Given the description of an element on the screen output the (x, y) to click on. 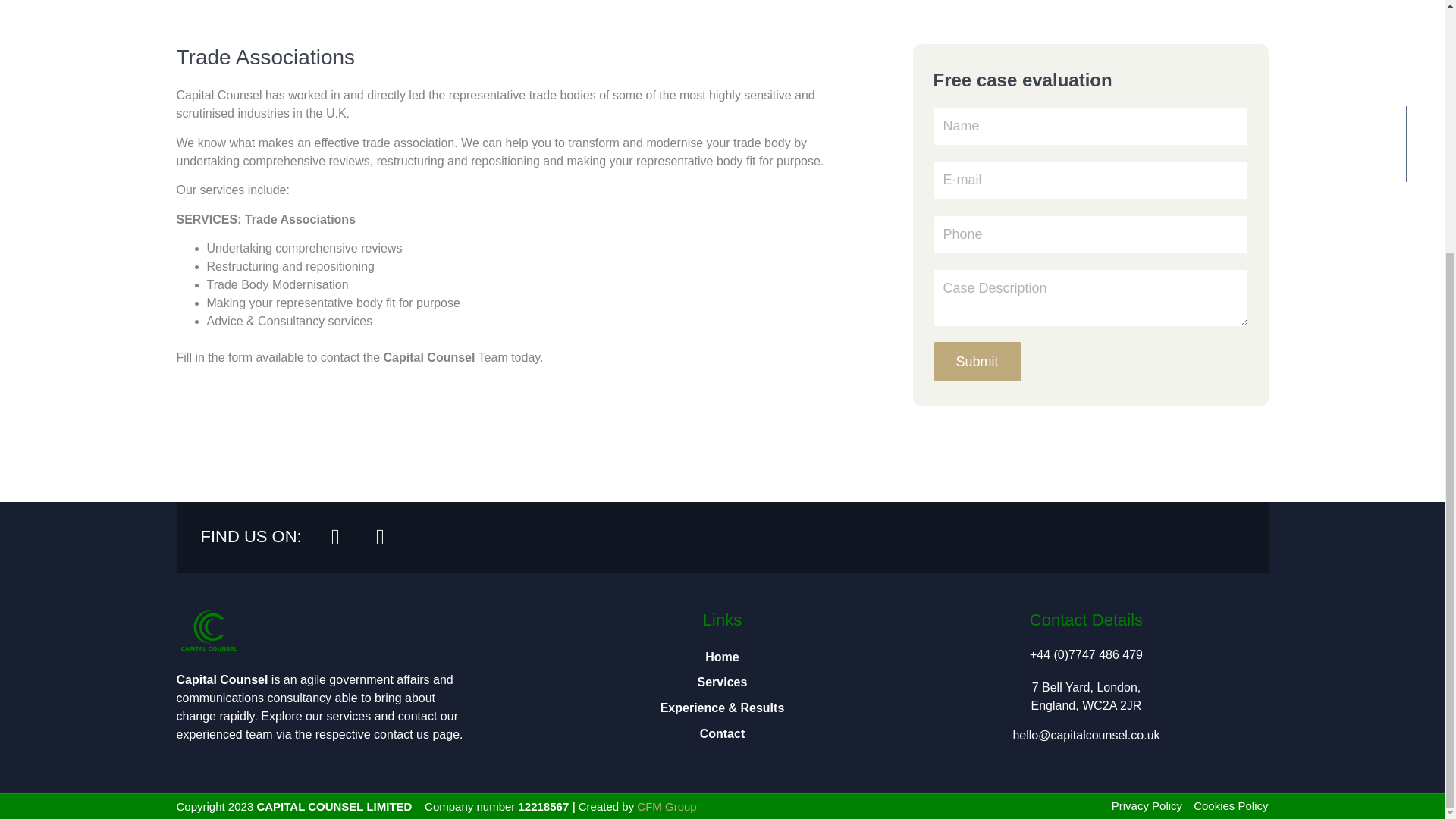
CFM Group (666, 806)
Services (722, 682)
Home (722, 657)
Contact (722, 734)
Cookies Policy (1230, 805)
Privacy Policy (1147, 805)
Submit (976, 361)
